Given the description of an element on the screen output the (x, y) to click on. 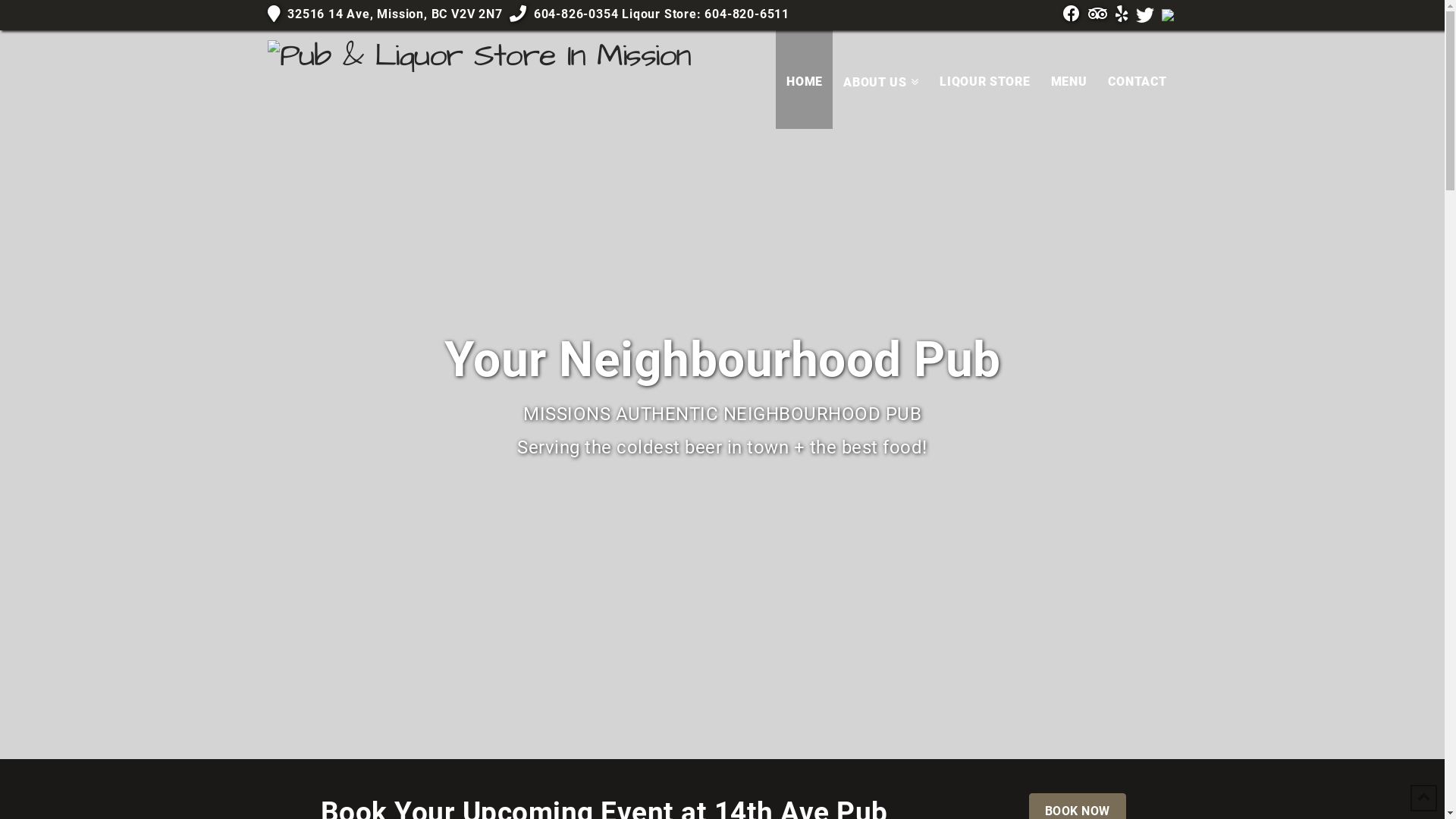
MENU Element type: text (1068, 79)
CONTACT Element type: text (1137, 79)
Liqour Store: 604-820-6511 Element type: text (703, 13)
HOME Element type: text (803, 79)
604-826-0354 Element type: text (575, 13)
ABOUT US Element type: text (880, 79)
LIQOUR STORE Element type: text (983, 79)
Back to Top Element type: hover (1423, 797)
